Given the description of an element on the screen output the (x, y) to click on. 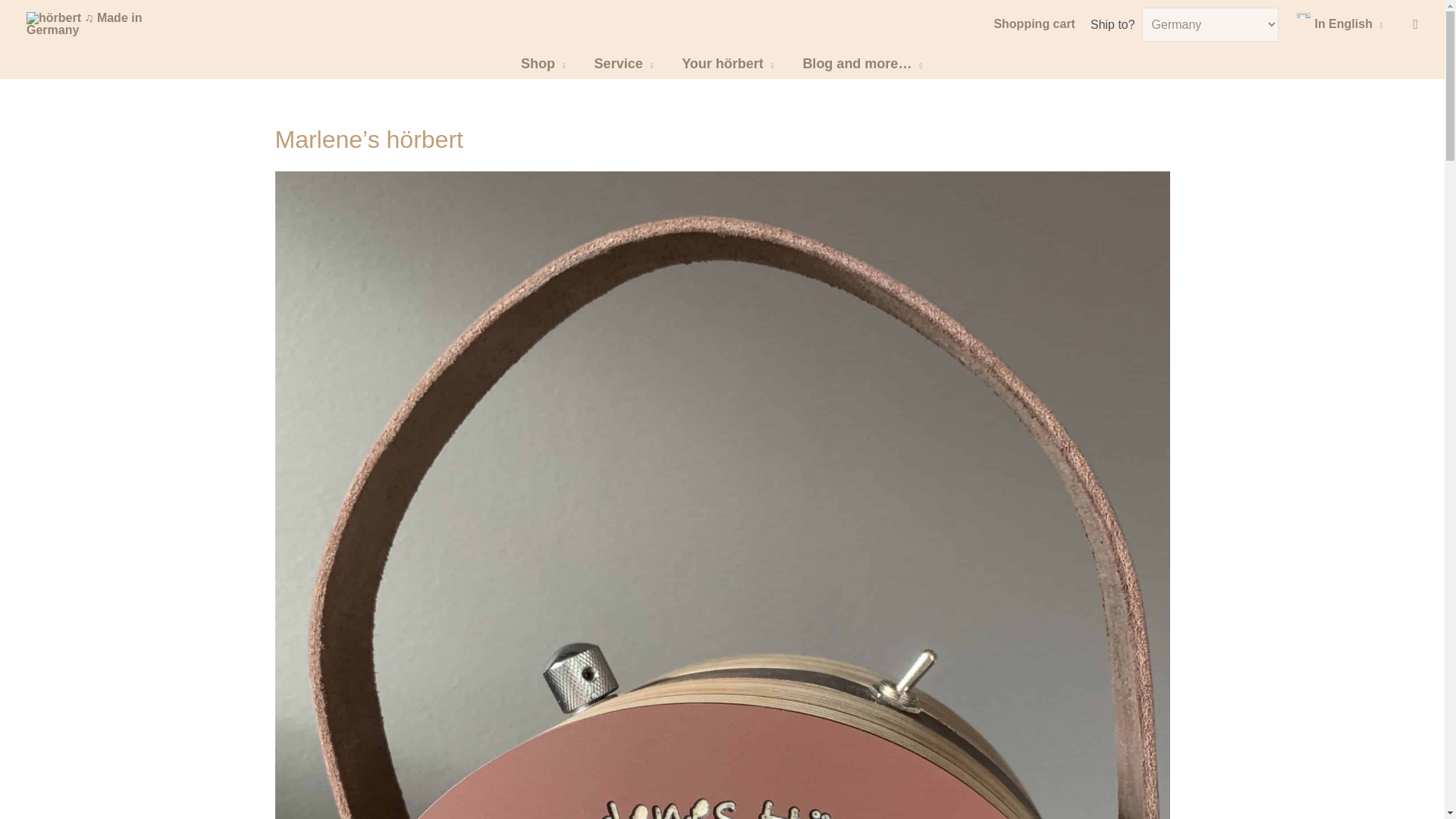
Shopping cart (1035, 24)
In English (1340, 24)
Service (624, 63)
Shop (543, 63)
In English (1340, 24)
Open Cookie Preferences (1411, 799)
